Given the description of an element on the screen output the (x, y) to click on. 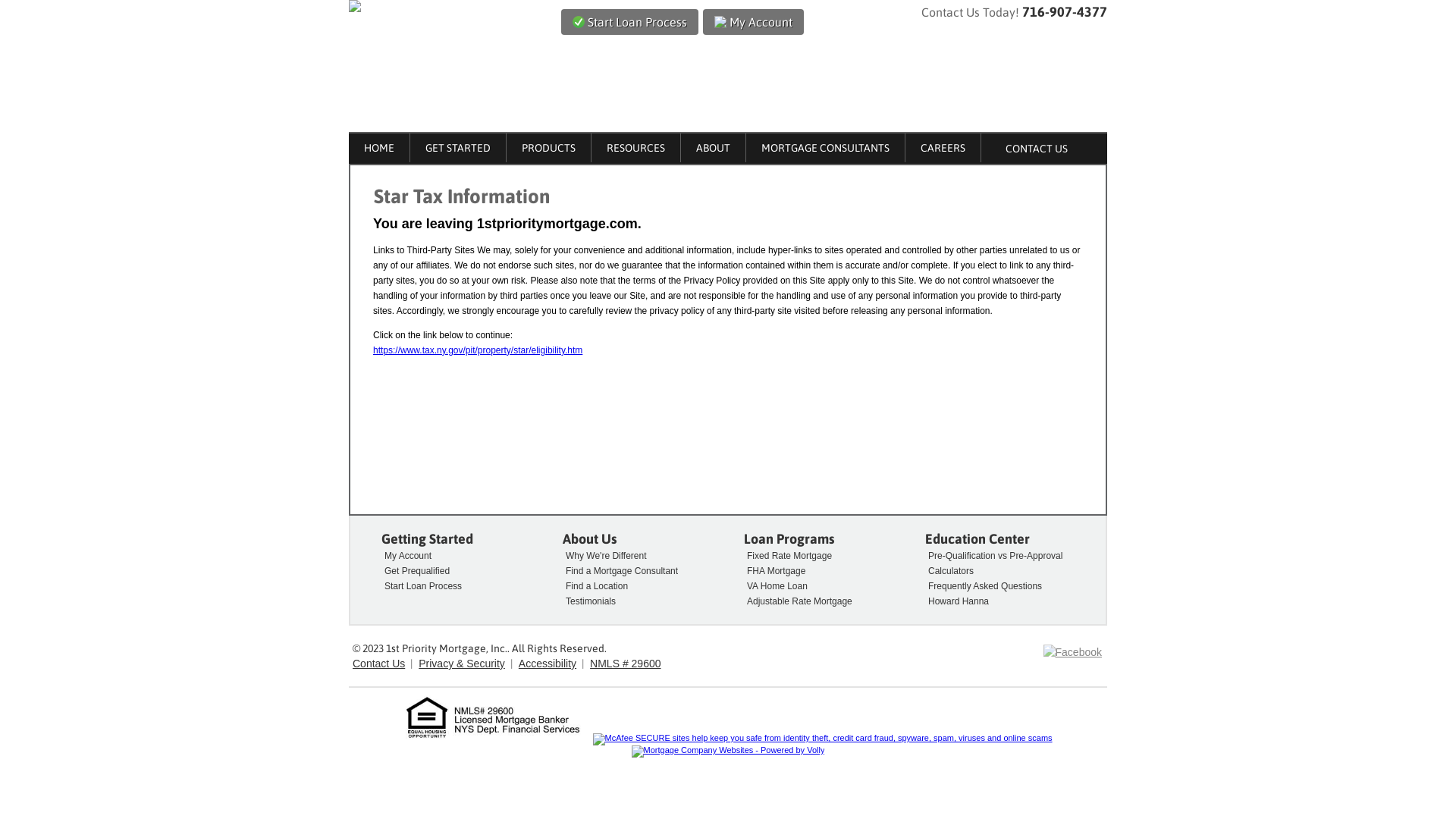
Equal Housing Lender Element type: hover (493, 717)
https://www.tax.ny.gov/pit/property/star/eligibility.htm Element type: text (477, 350)
Find a Mortgage Consultant Element type: text (619, 570)
CONTACT US Element type: text (1036, 148)
Get Prequalified Element type: text (414, 570)
Accessibility Element type: text (547, 663)
Facebook Element type: hover (1072, 651)
GET STARTED Element type: text (457, 147)
Start Loan Process Element type: text (420, 585)
My Account Element type: text (405, 555)
Privacy & Security Element type: text (461, 663)
Why We're Different Element type: text (603, 555)
Calculators Element type: text (948, 570)
My Account Element type: text (752, 21)
Testimonials Element type: text (588, 601)
ABOUT Element type: text (712, 147)
VA Home Loan Element type: text (775, 585)
Howard Hanna Element type: text (956, 601)
CAREERS Element type: text (942, 147)
Pre-Qualification vs Pre-Approval Element type: text (993, 555)
Find a Location Element type: text (594, 585)
MORTGAGE CONSULTANTS Element type: text (825, 147)
FHA Mortgage Element type: text (774, 570)
Start Loan Process Element type: text (629, 21)
Frequently Asked Questions Element type: text (982, 585)
HOME Element type: text (378, 147)
NMLS # 29600 Element type: text (624, 663)
Contact Us Element type: text (378, 663)
Adjustable Rate Mortgage Element type: text (797, 601)
Mortgage Company Websites - Powered by Volly Element type: hover (728, 751)
Fixed Rate Mortgage Element type: text (787, 555)
PRODUCTS Element type: text (548, 147)
RESOURCES Element type: text (635, 147)
